Given the description of an element on the screen output the (x, y) to click on. 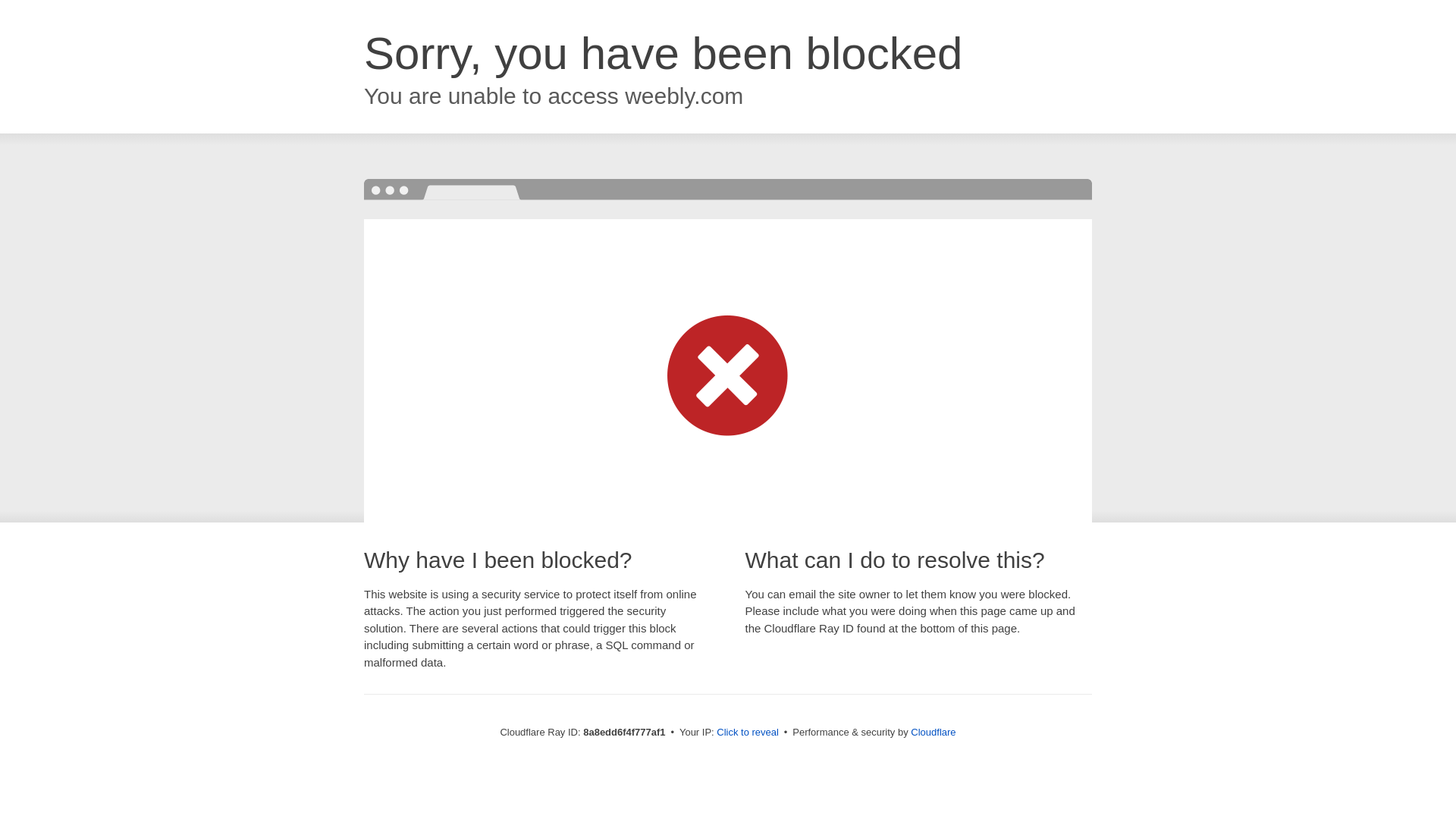
Cloudflare (933, 731)
Click to reveal (747, 732)
